Given the description of an element on the screen output the (x, y) to click on. 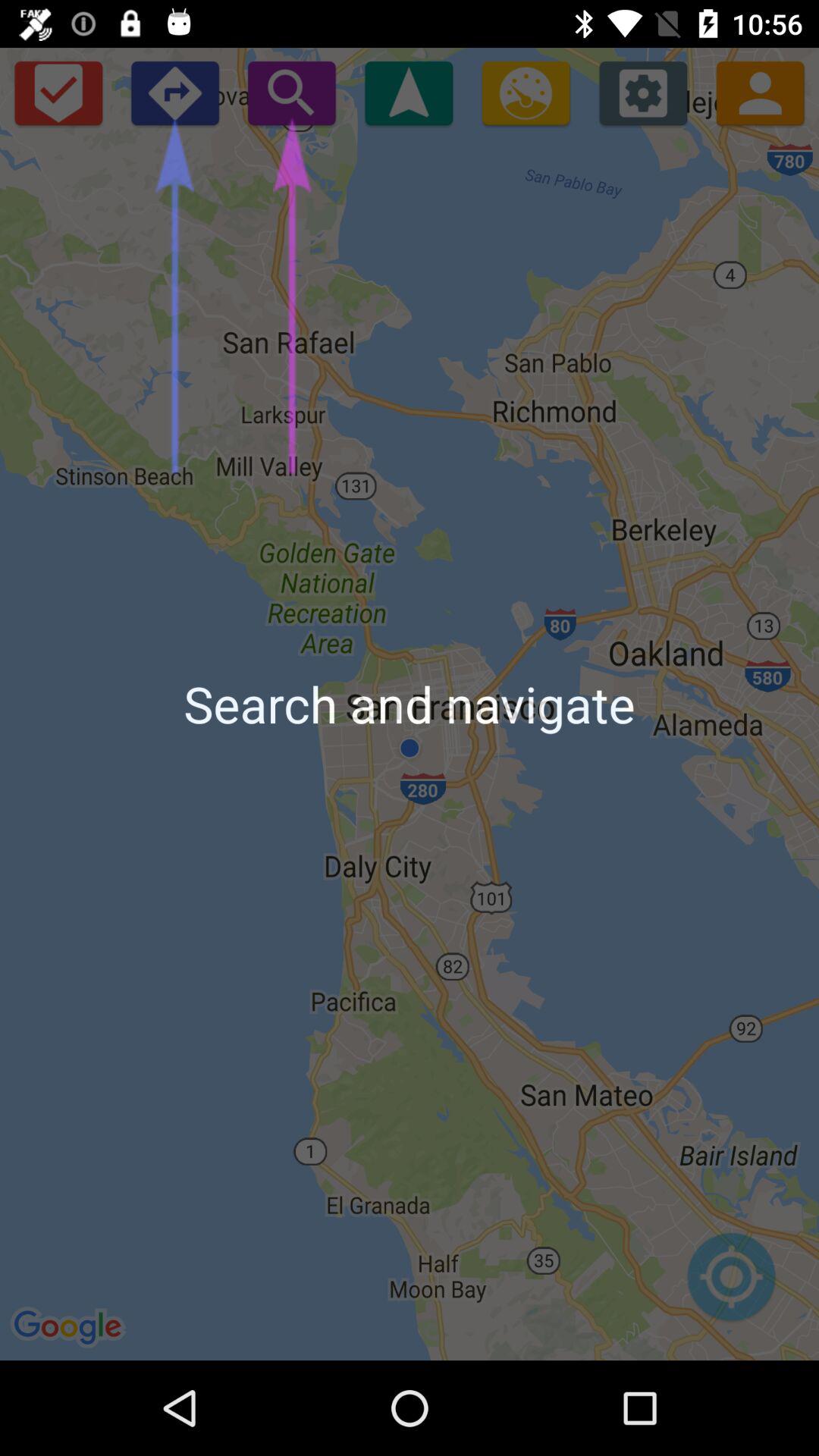
turn on the app above the search and navigate item (174, 92)
